Given the description of an element on the screen output the (x, y) to click on. 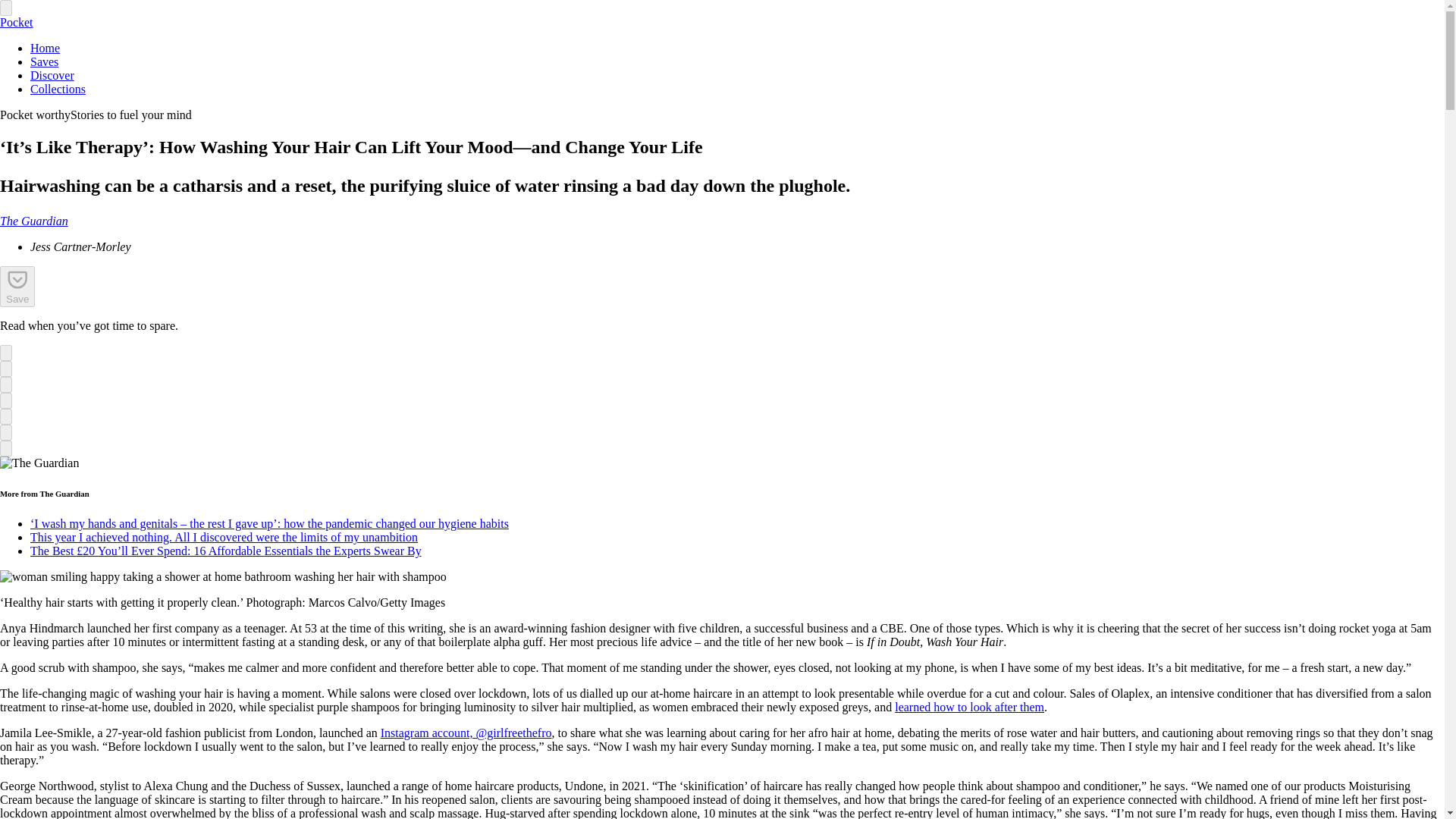
Discover (52, 74)
Collections (57, 88)
learned how to look after them (969, 707)
Home (44, 47)
Saves (44, 61)
The Guardian (34, 220)
